Given the description of an element on the screen output the (x, y) to click on. 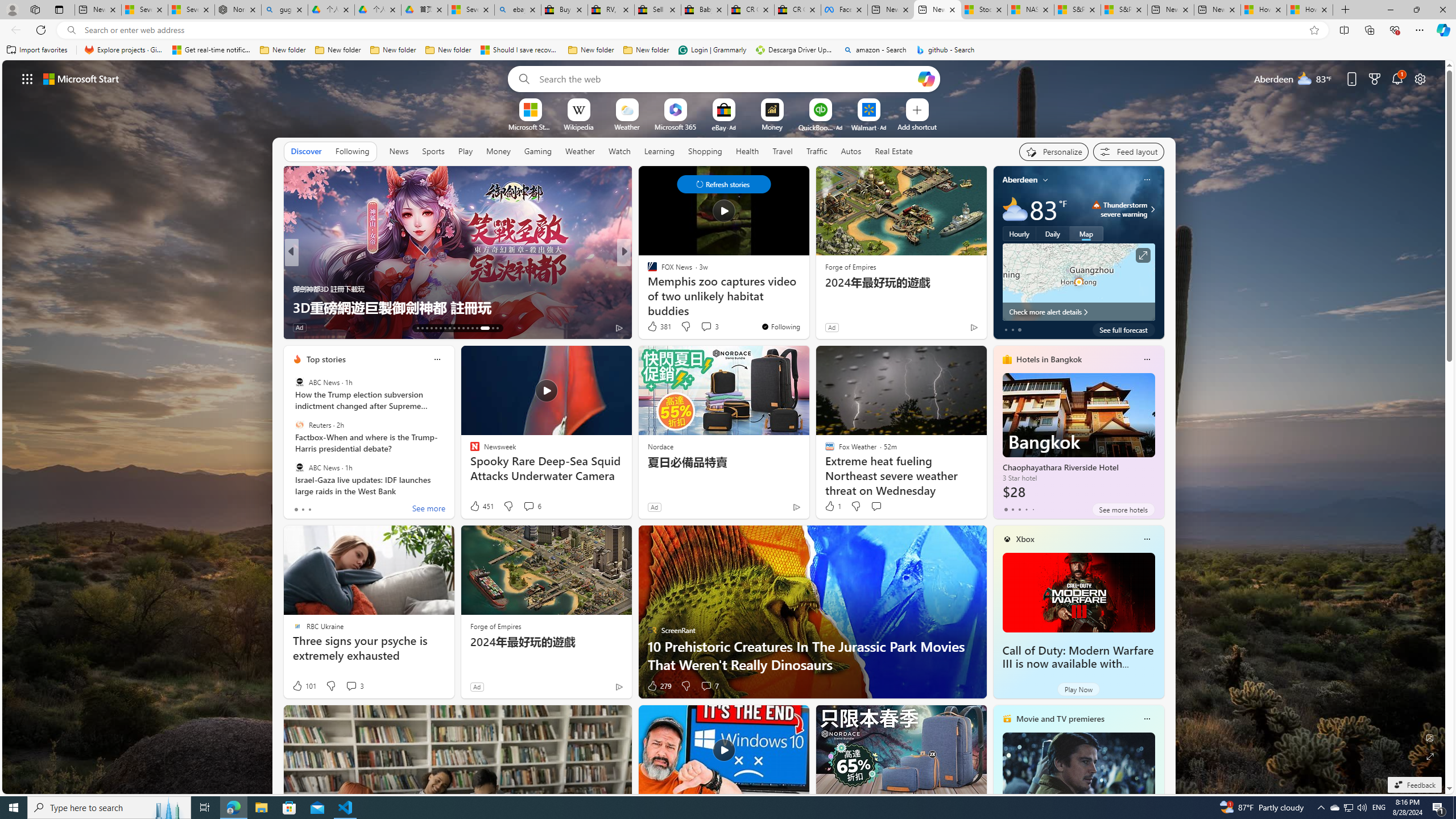
Sports (432, 151)
Hourly (1018, 233)
You're following FOX News (780, 326)
View comments 4 Comment (6, 327)
AutomationID: tab-24 (467, 328)
Enter your search term (726, 78)
CNN Money (647, 270)
Money (498, 151)
Real Estate (893, 151)
